Given the description of an element on the screen output the (x, y) to click on. 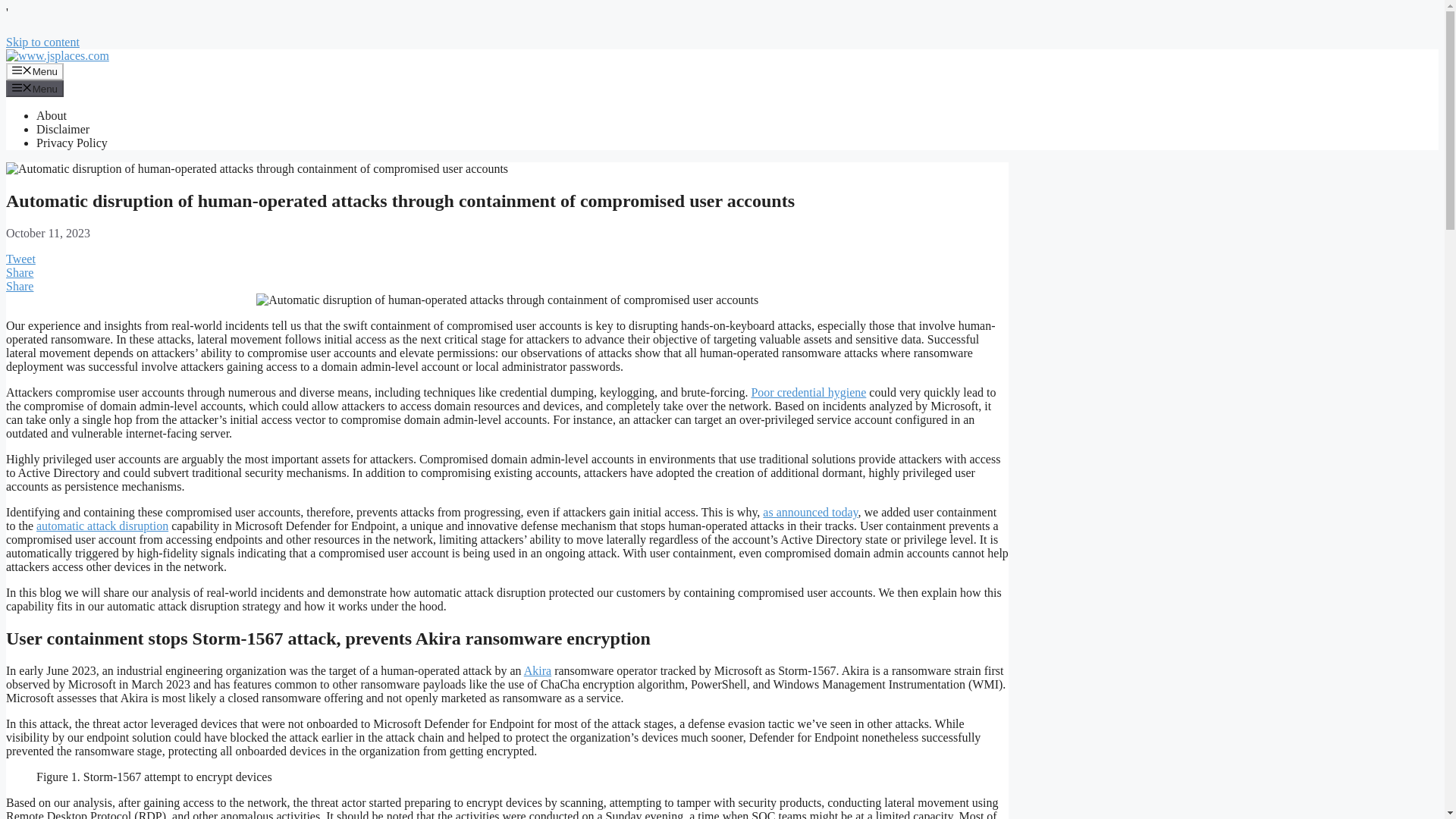
as announced today (809, 512)
Skip to content (42, 42)
Menu (34, 88)
Tweet (19, 258)
Poor credential hygiene (808, 391)
Menu (34, 71)
Akira (537, 670)
Disclaimer (62, 128)
Privacy Policy (71, 142)
About (51, 115)
Skip to content (42, 42)
Share (19, 286)
automatic attack disruption (102, 525)
